Given the description of an element on the screen output the (x, y) to click on. 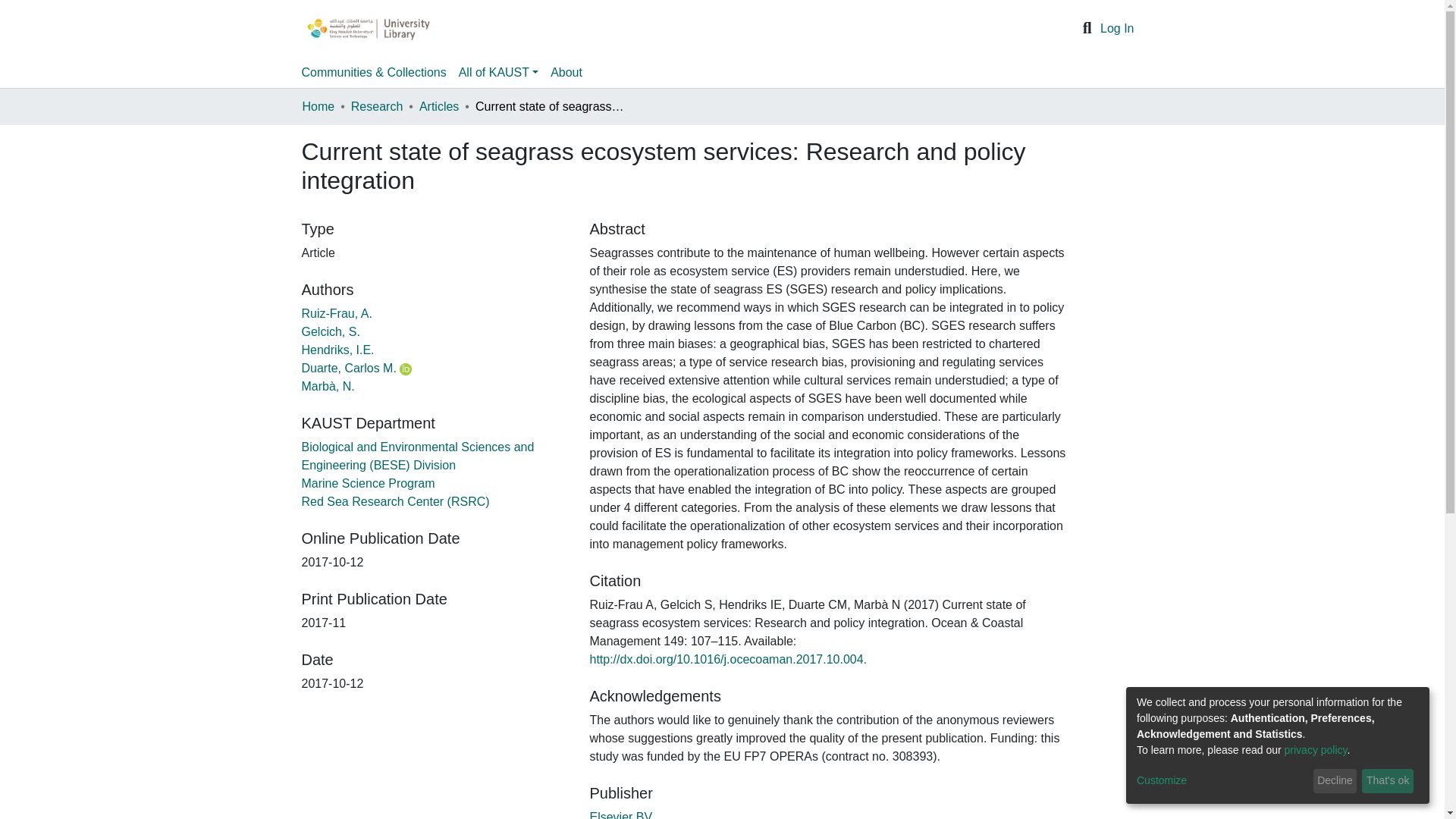
Hendriks, I.E. (337, 349)
Gelcich, S. (330, 331)
Elsevier BV (620, 814)
Duarte, Carlos M. (348, 367)
Decline (1334, 781)
Log In (1117, 28)
About (566, 72)
privacy policy (1316, 749)
About (566, 72)
Marine Science Program (368, 482)
All of KAUST (498, 72)
That's ok (1387, 781)
Ruiz-Frau, A. (336, 313)
Customize (1222, 780)
Research (376, 106)
